Given the description of an element on the screen output the (x, y) to click on. 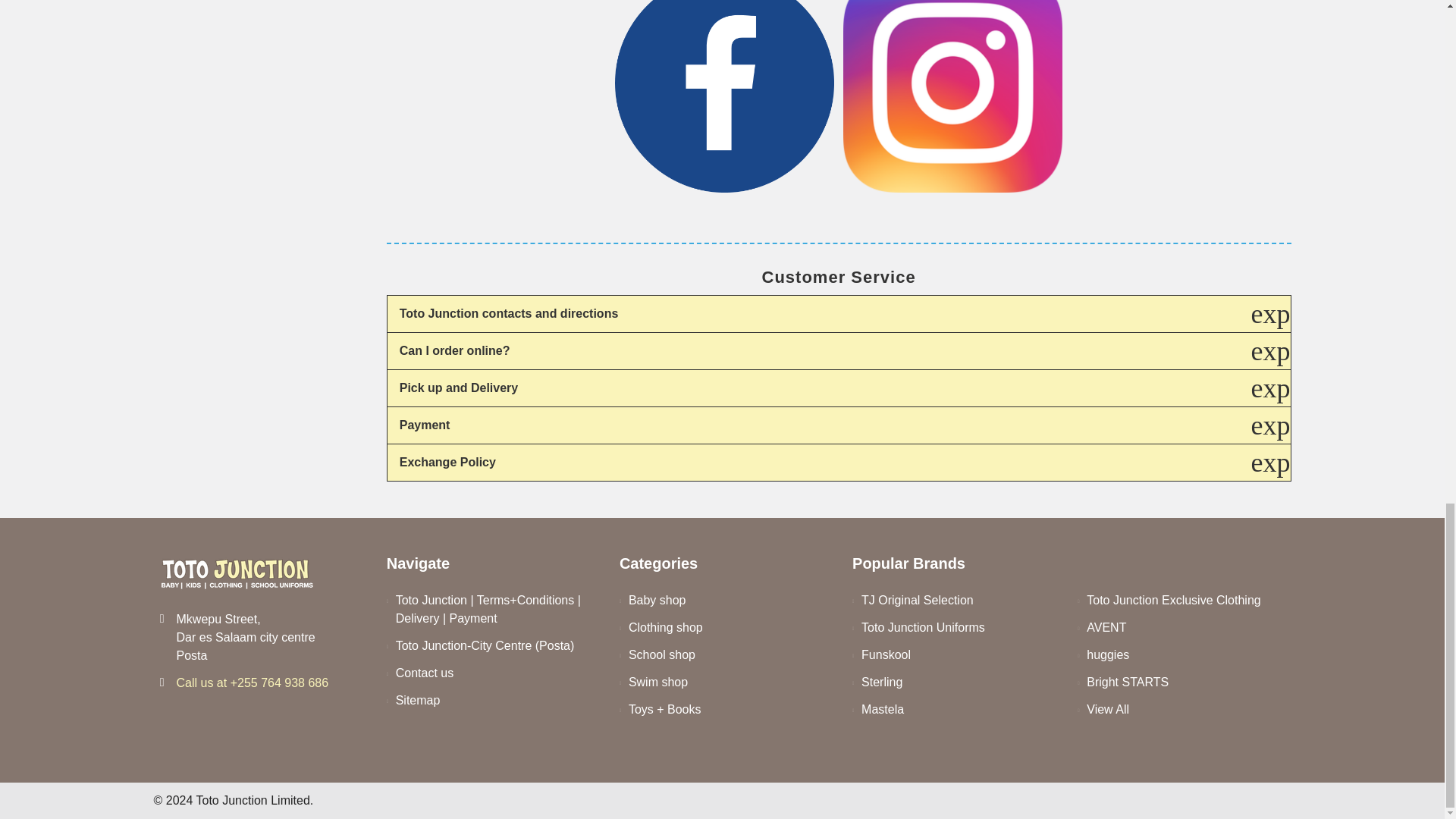
Toto Junction Limited (236, 573)
